Given the description of an element on the screen output the (x, y) to click on. 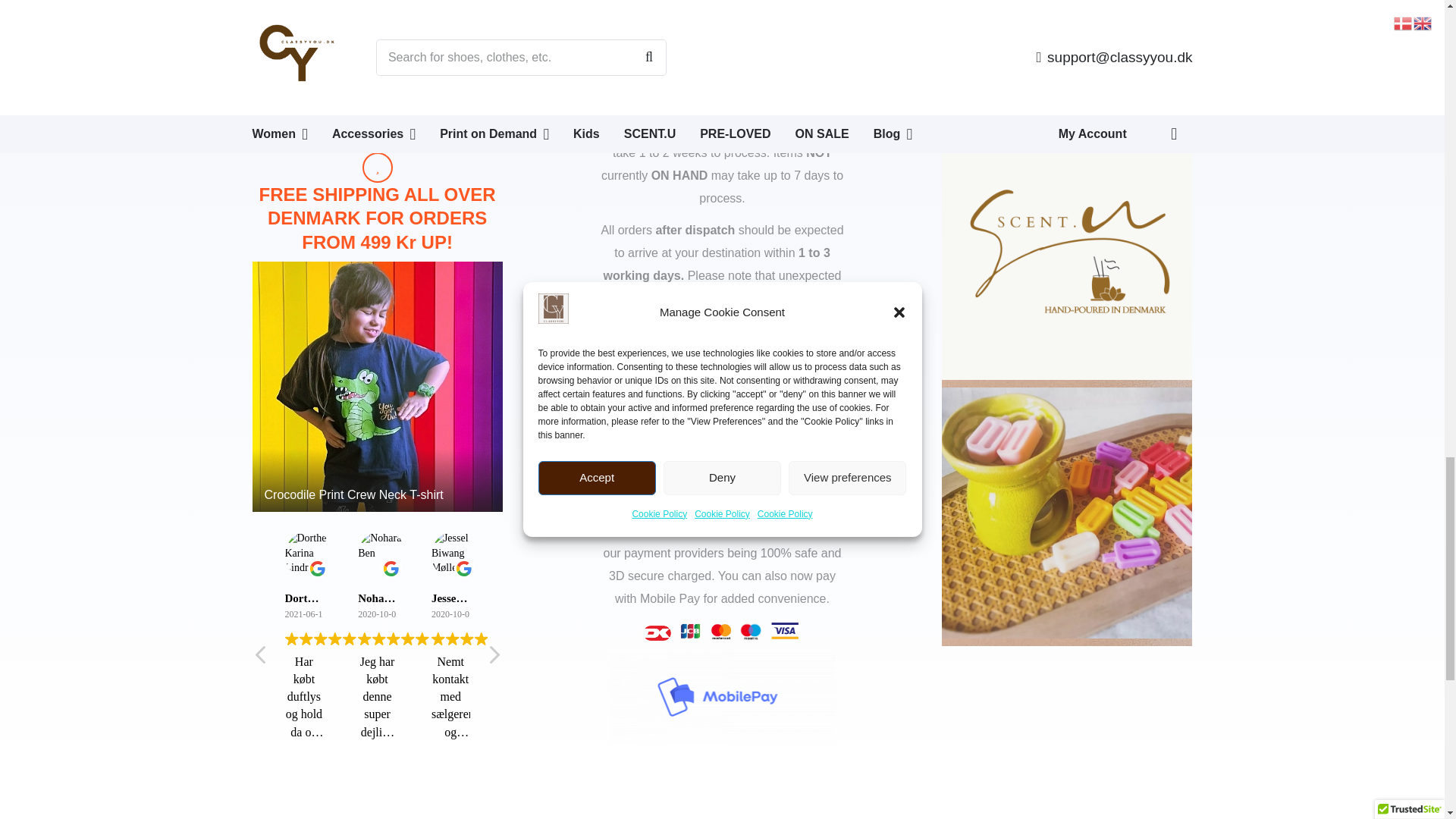
Pinterest (1112, 73)
Premium Kids Crewneck Autism Slogan T-shirt (376, 386)
Scent.U on Etsy (1008, 110)
Instagram (1061, 73)
Instagram (1010, 73)
Facebook (960, 73)
